Given the description of an element on the screen output the (x, y) to click on. 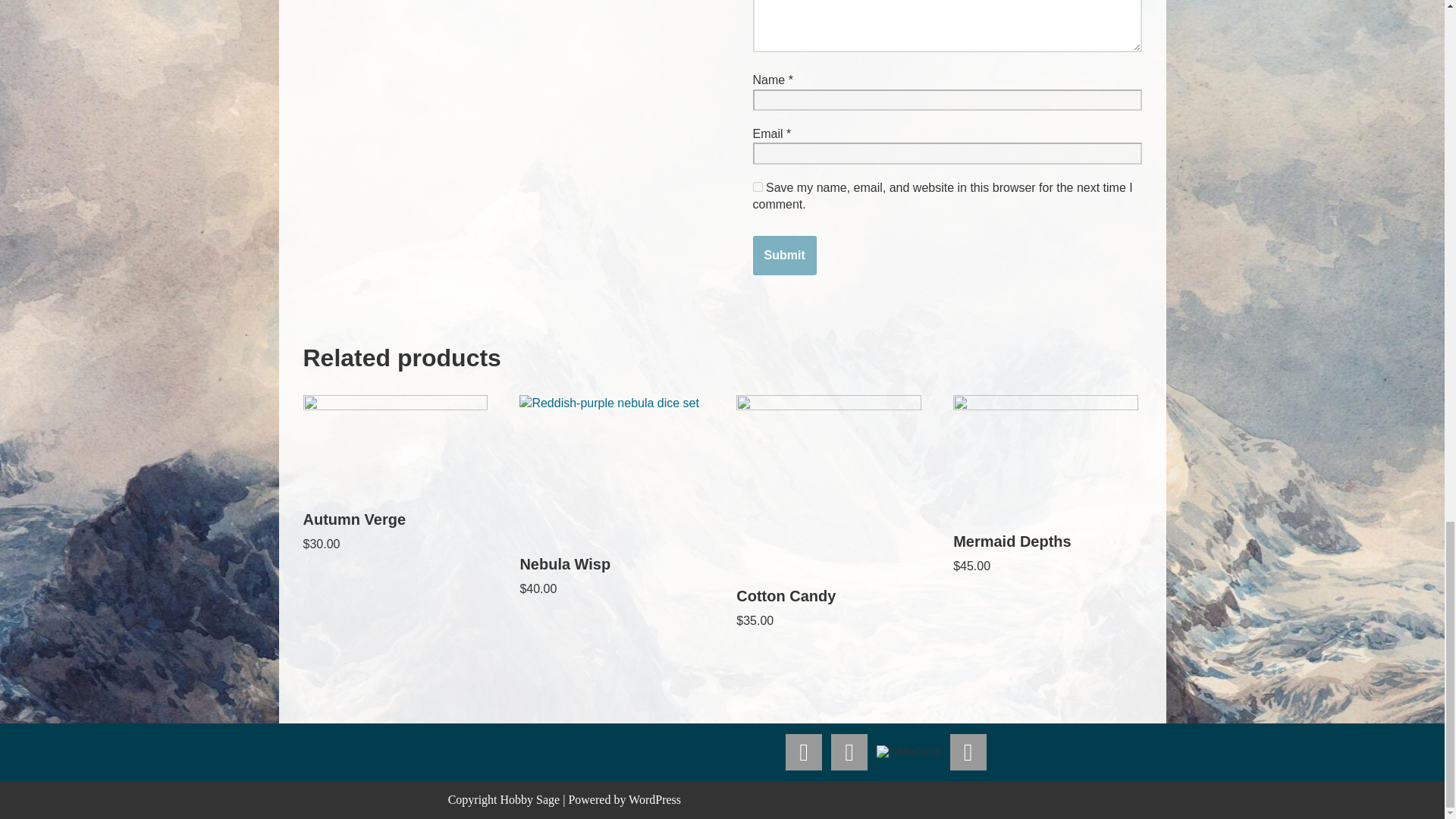
Twitter (804, 751)
yes (756, 186)
Submit (783, 255)
Submit (783, 255)
Instagram (849, 751)
